Given the description of an element on the screen output the (x, y) to click on. 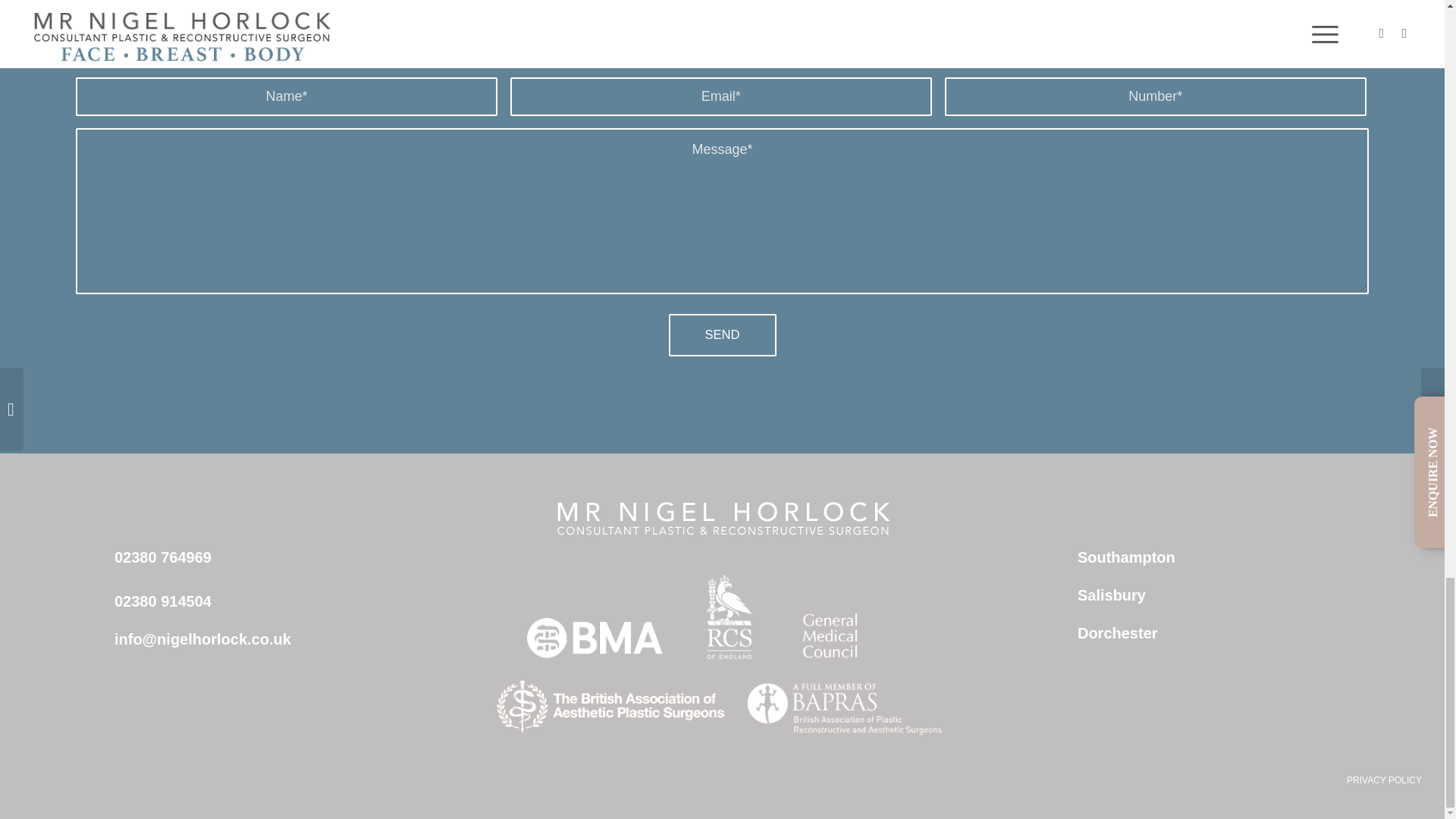
02380 764969 (163, 556)
02380 914504 (163, 600)
SEND (722, 334)
SEND (722, 334)
